Given the description of an element on the screen output the (x, y) to click on. 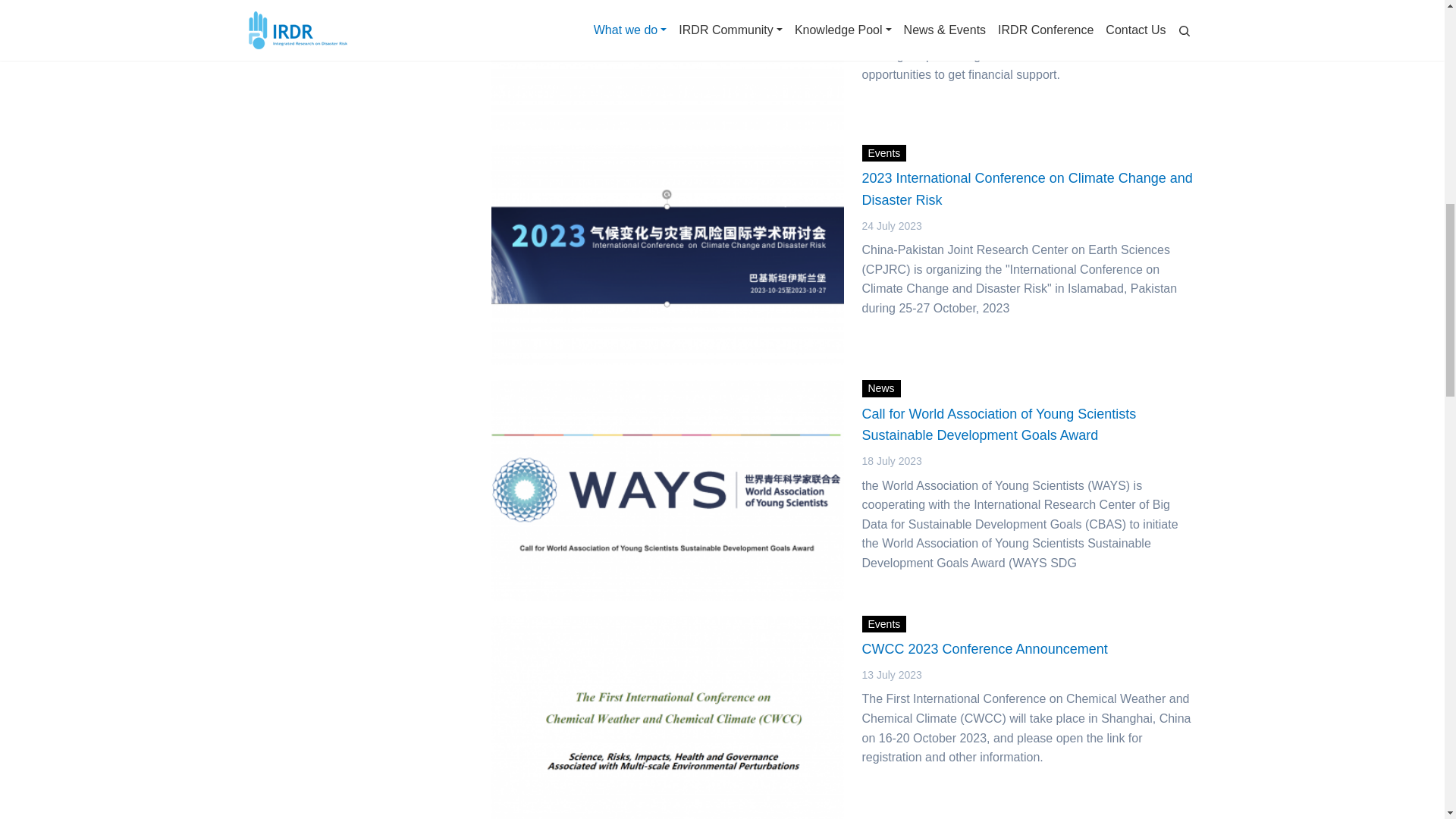
CWCC 2023 Conference Announcement (1028, 659)
FILTER (276, 43)
